Given the description of an element on the screen output the (x, y) to click on. 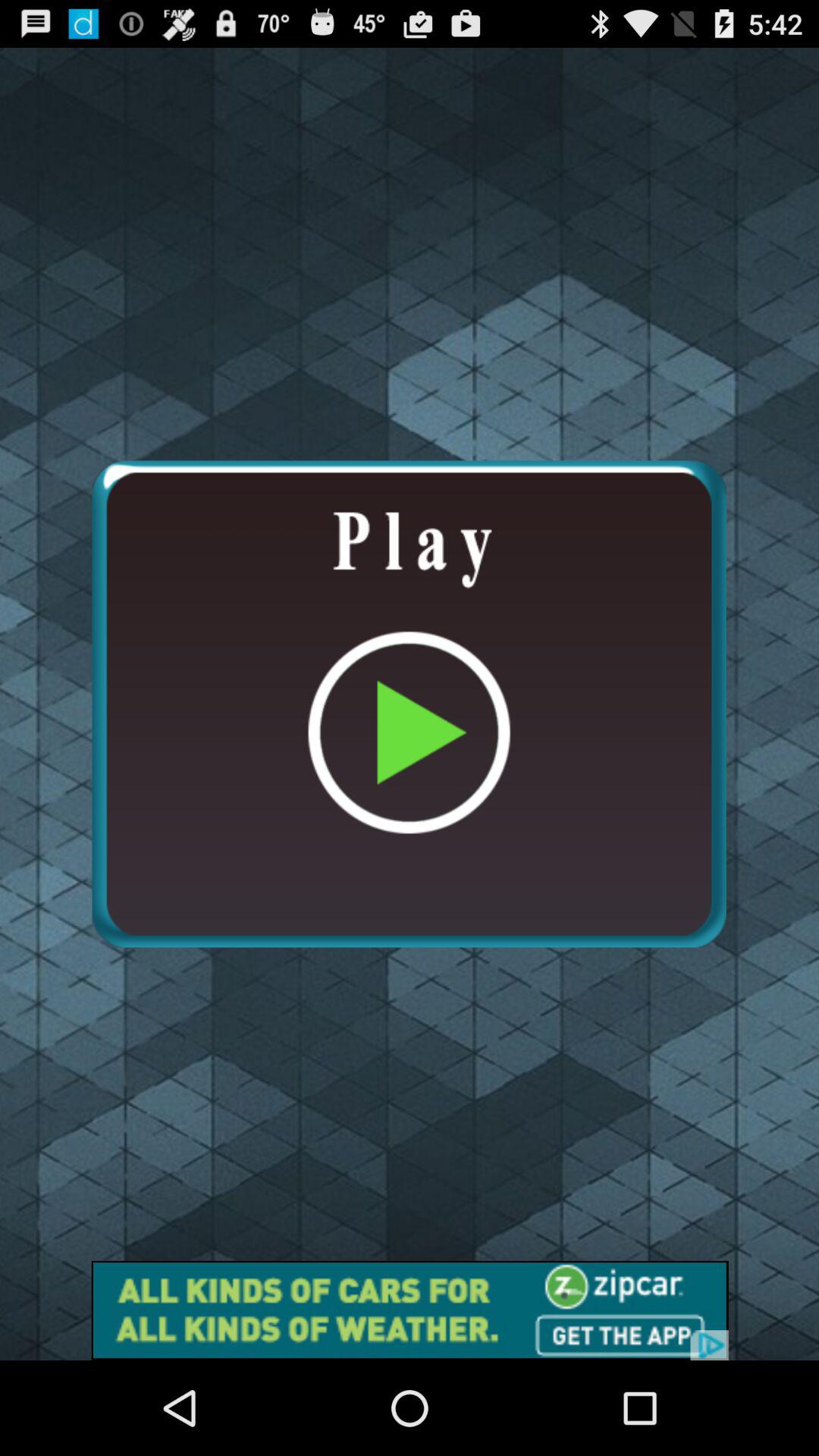
go to the advertisement page (409, 1310)
